Given the description of an element on the screen output the (x, y) to click on. 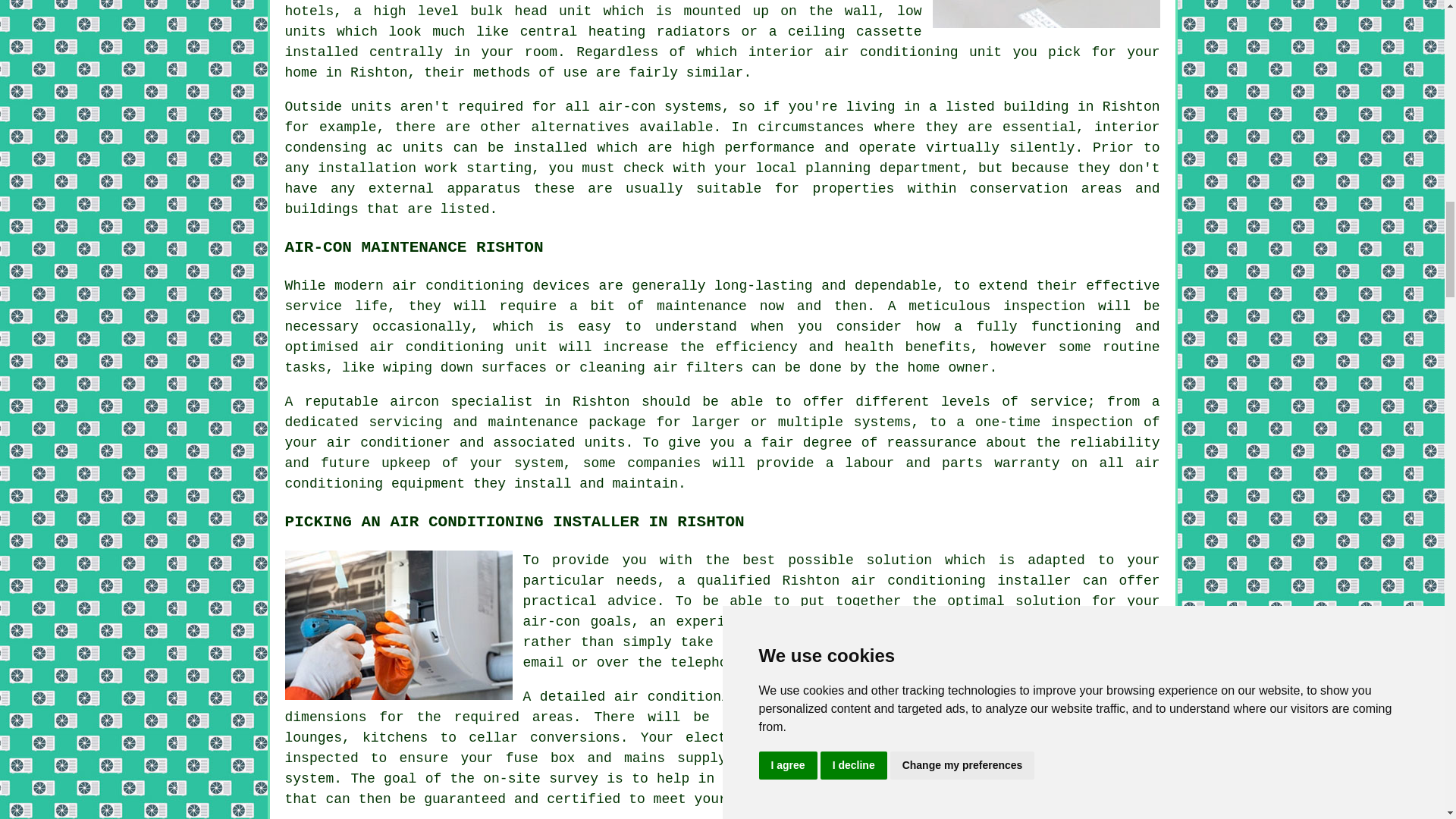
air conditioning (918, 580)
maintenance (701, 305)
survey (1126, 621)
installation (366, 168)
levels of service (1013, 401)
Air Conditioning Near Rishton Lancashire (1046, 13)
